Given the description of an element on the screen output the (x, y) to click on. 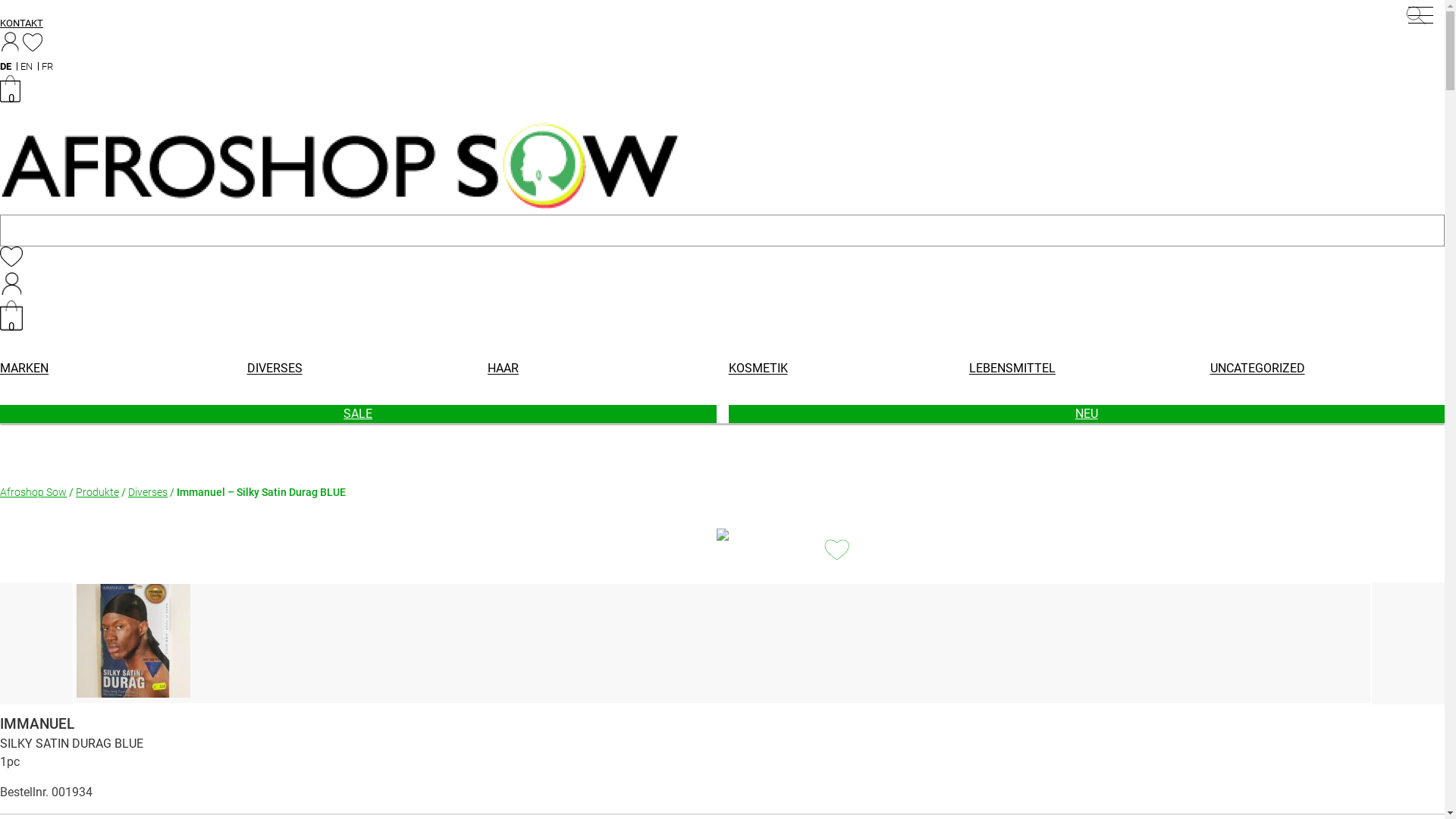
FR Element type: text (47, 65)
DIVERSES Element type: text (274, 367)
0 Element type: text (10, 98)
NEU Element type: text (1086, 413)
KONTAKT Element type: text (21, 22)
DE Element type: text (5, 65)
0 Element type: text (11, 326)
SALE Element type: text (358, 413)
LEBENSMITTEL Element type: text (1012, 367)
Search Element type: text (1417, 18)
MARKEN Element type: text (27, 367)
Diverses Element type: text (147, 492)
UNCATEGORIZED Element type: text (1257, 367)
Produkte Element type: text (97, 492)
HAAR Element type: text (502, 367)
KOSMETIK Element type: text (757, 367)
EN Element type: text (26, 65)
Afroshop Sow Element type: text (33, 492)
